Given the description of an element on the screen output the (x, y) to click on. 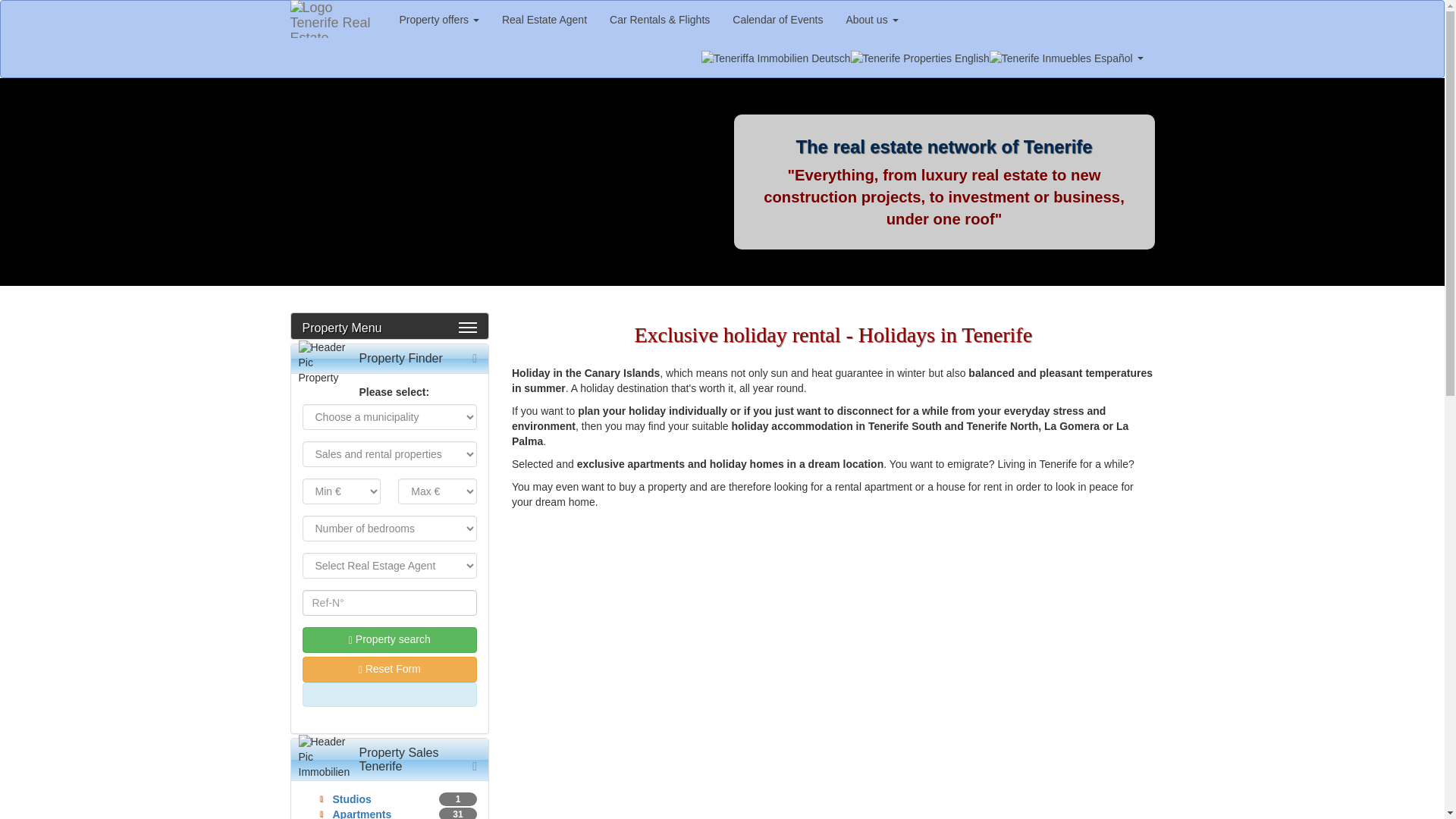
Property search (389, 639)
Property Sales Tenerife (399, 759)
Calendar of Events (777, 19)
About us (871, 19)
Apartments for sale Tenerife (361, 813)
Studios for sale Tenerife (351, 799)
Real Estate Agent (544, 19)
Apartments (361, 813)
Property Finder (400, 358)
Property offers (439, 19)
